Given the description of an element on the screen output the (x, y) to click on. 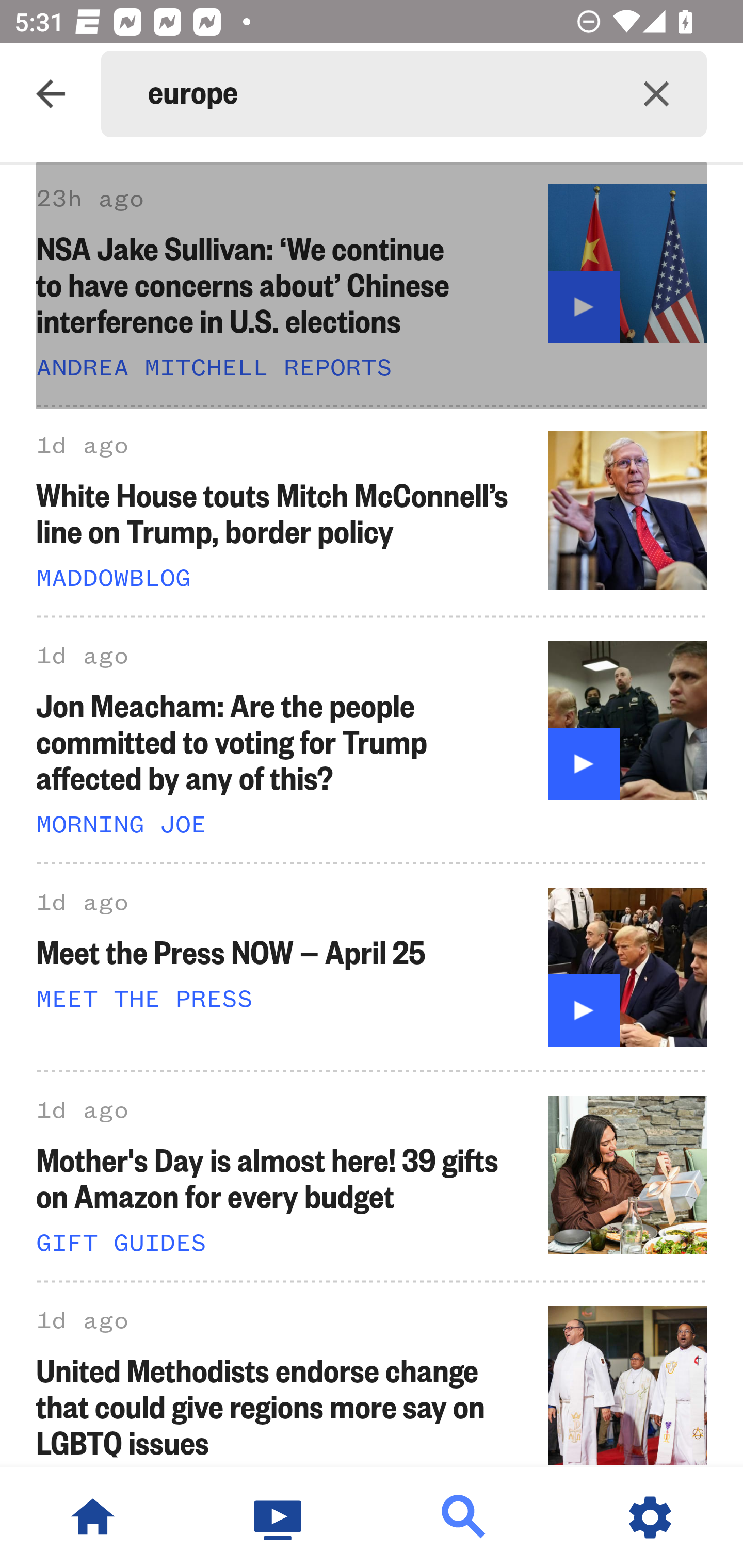
Navigate up (50, 93)
Clear query (656, 93)
europe (376, 94)
NBC News Home (92, 1517)
Watch (278, 1517)
Settings (650, 1517)
